Given the description of an element on the screen output the (x, y) to click on. 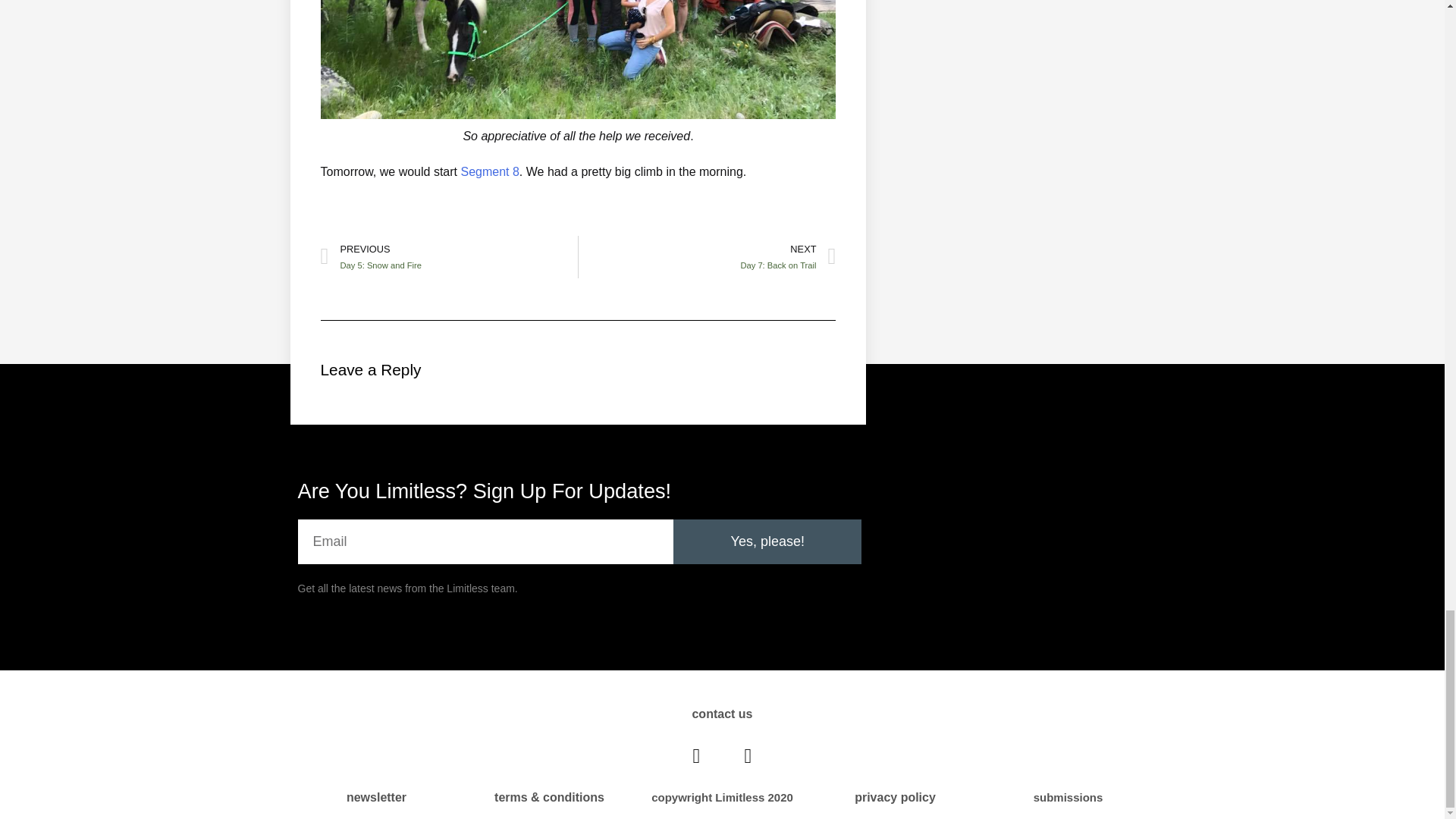
Segment 8 (488, 171)
